Given the description of an element on the screen output the (x, y) to click on. 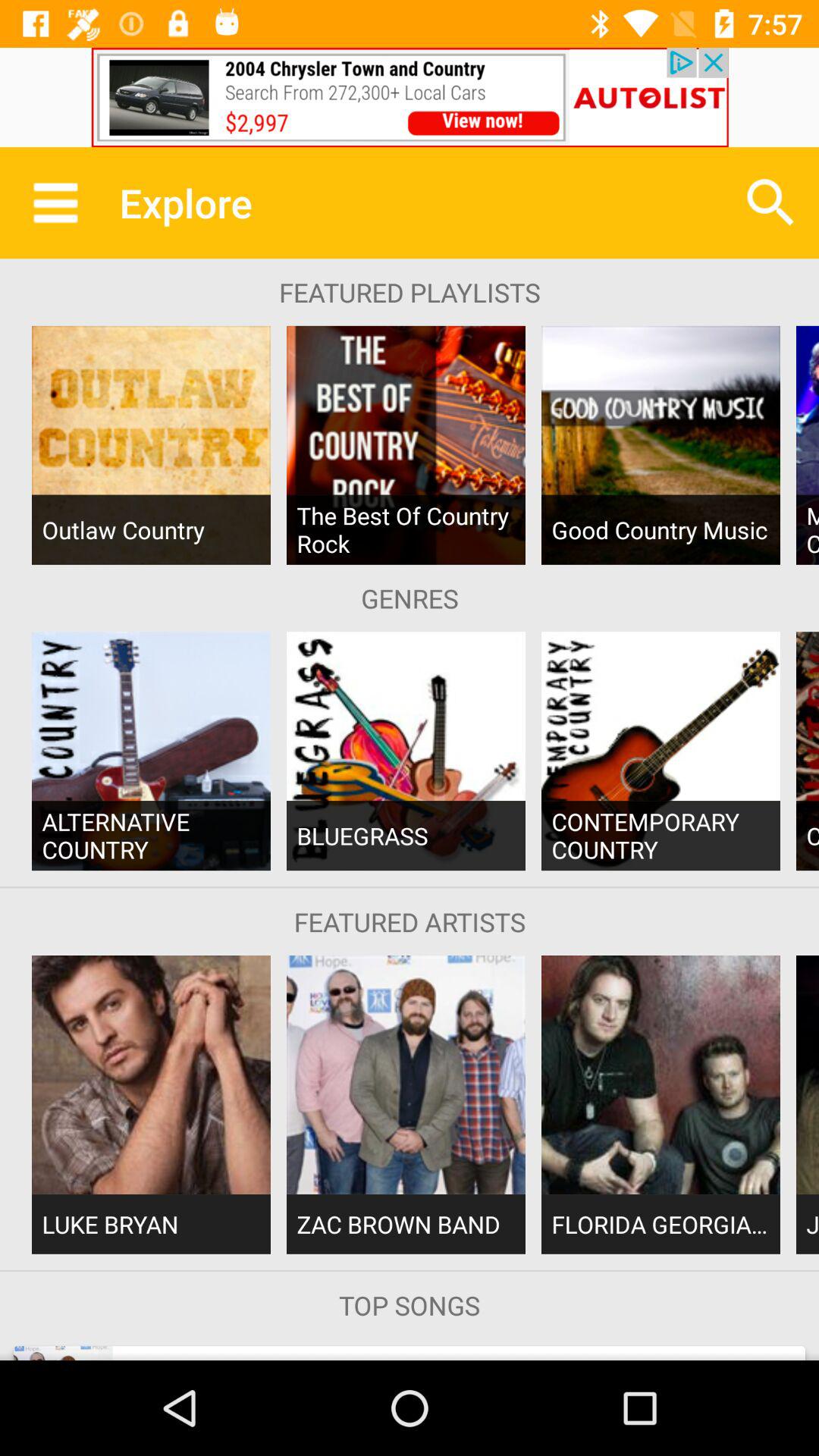
advertisement adding button (409, 97)
